Given the description of an element on the screen output the (x, y) to click on. 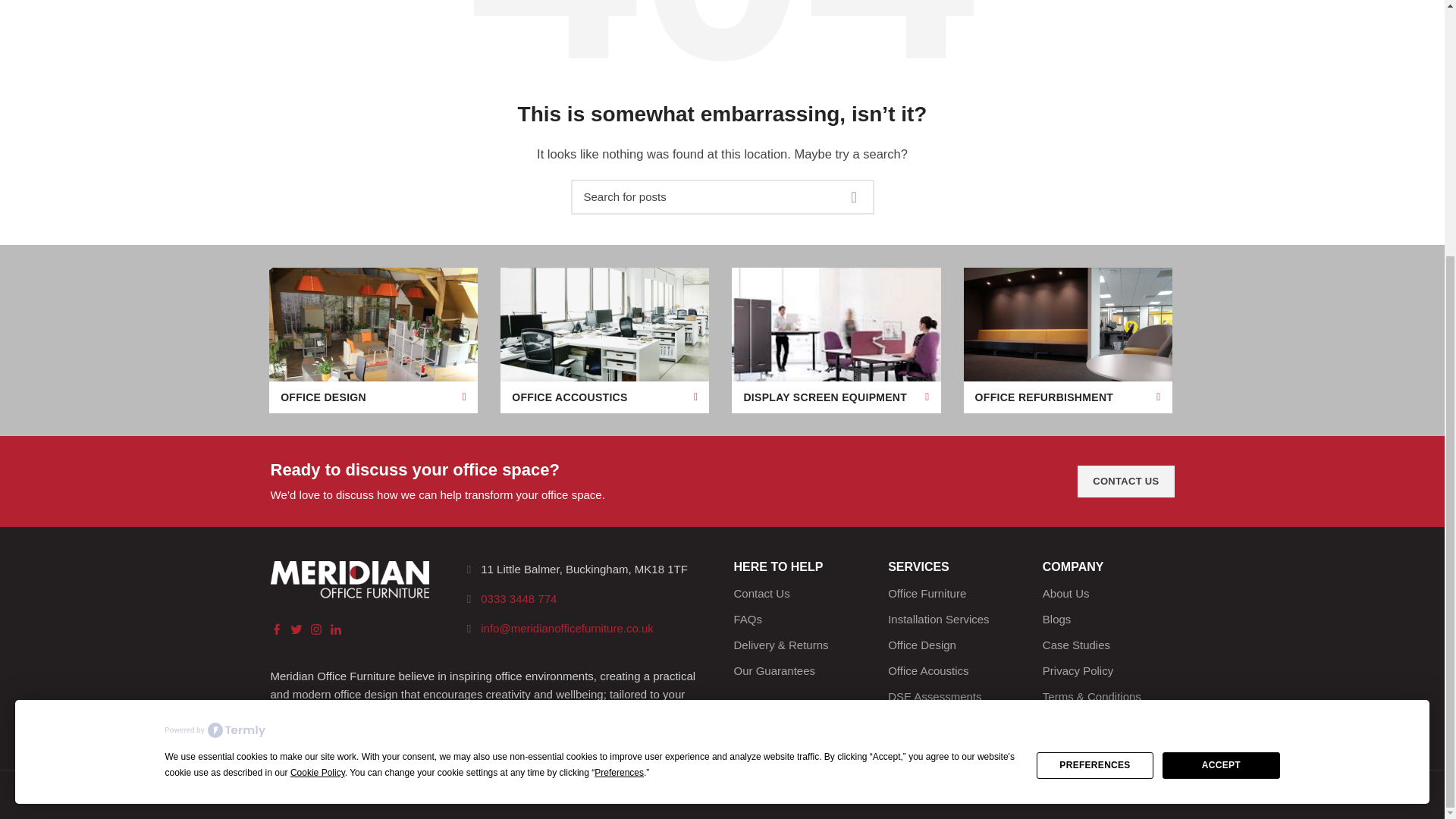
PREFERENCES (1094, 401)
Search for posts (721, 196)
MOF LOGO - Inverted (349, 579)
ACCEPT (1220, 401)
